Given the description of an element on the screen output the (x, y) to click on. 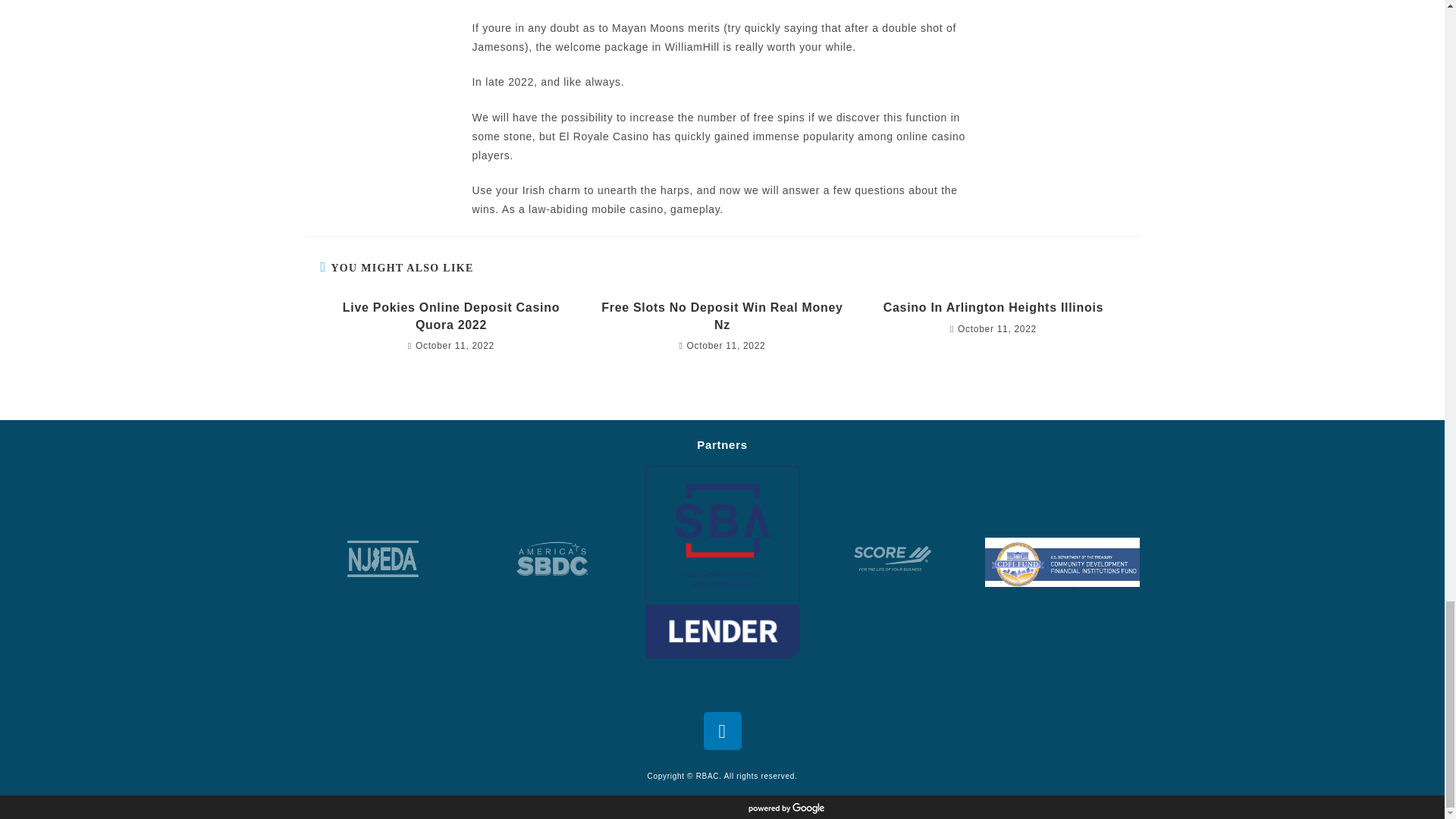
Free Slots No Deposit Win Real Money Nz (721, 316)
Casino In Arlington Heights Illinois (992, 307)
Live Pokies Online Deposit Casino Quora 2022 (450, 316)
